Given the description of an element on the screen output the (x, y) to click on. 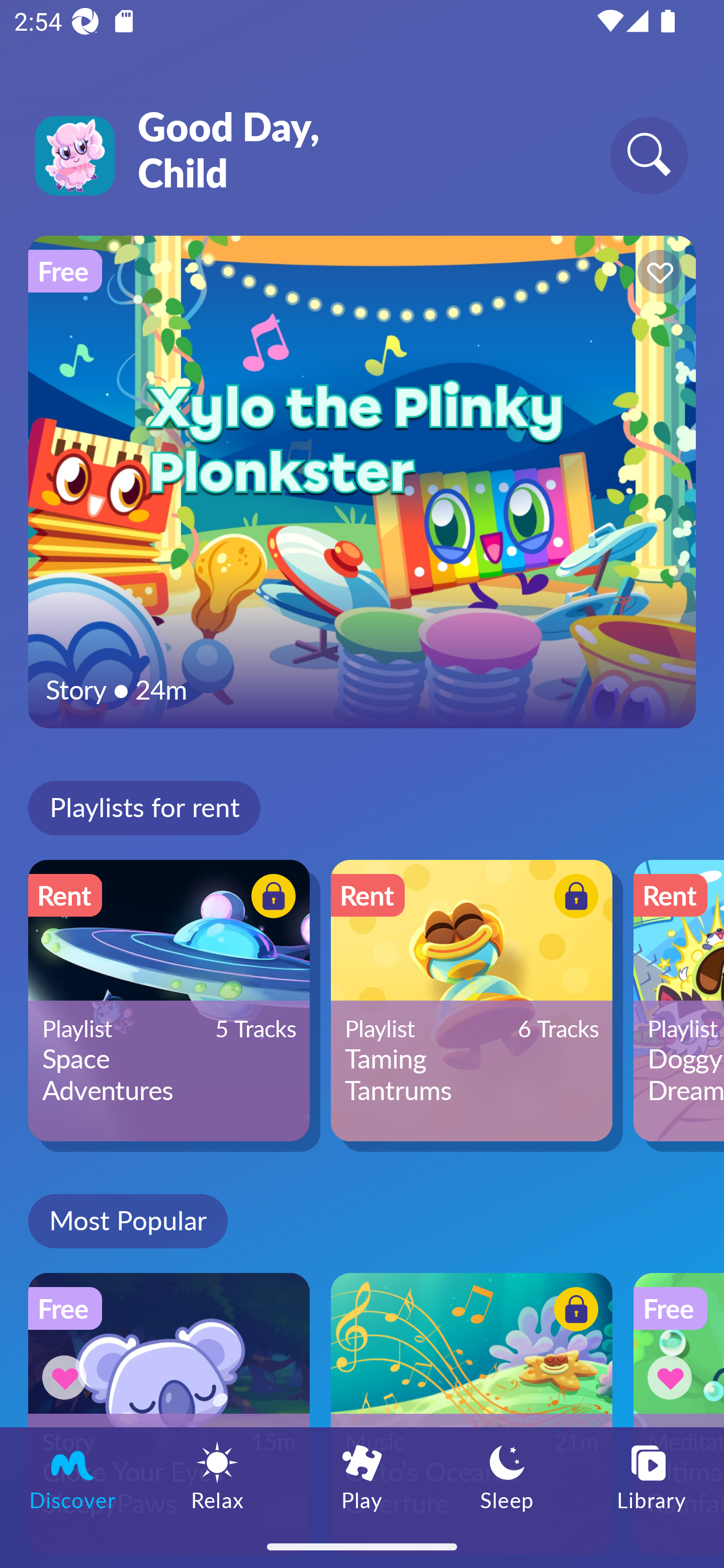
Search (648, 154)
Featured Content Free Button Story ● 24m (361, 481)
Button (656, 274)
Button (269, 898)
Button (573, 898)
Button (573, 1312)
Button (67, 1377)
Button (672, 1377)
Relax (216, 1475)
Play (361, 1475)
Sleep (506, 1475)
Library (651, 1475)
